Given the description of an element on the screen output the (x, y) to click on. 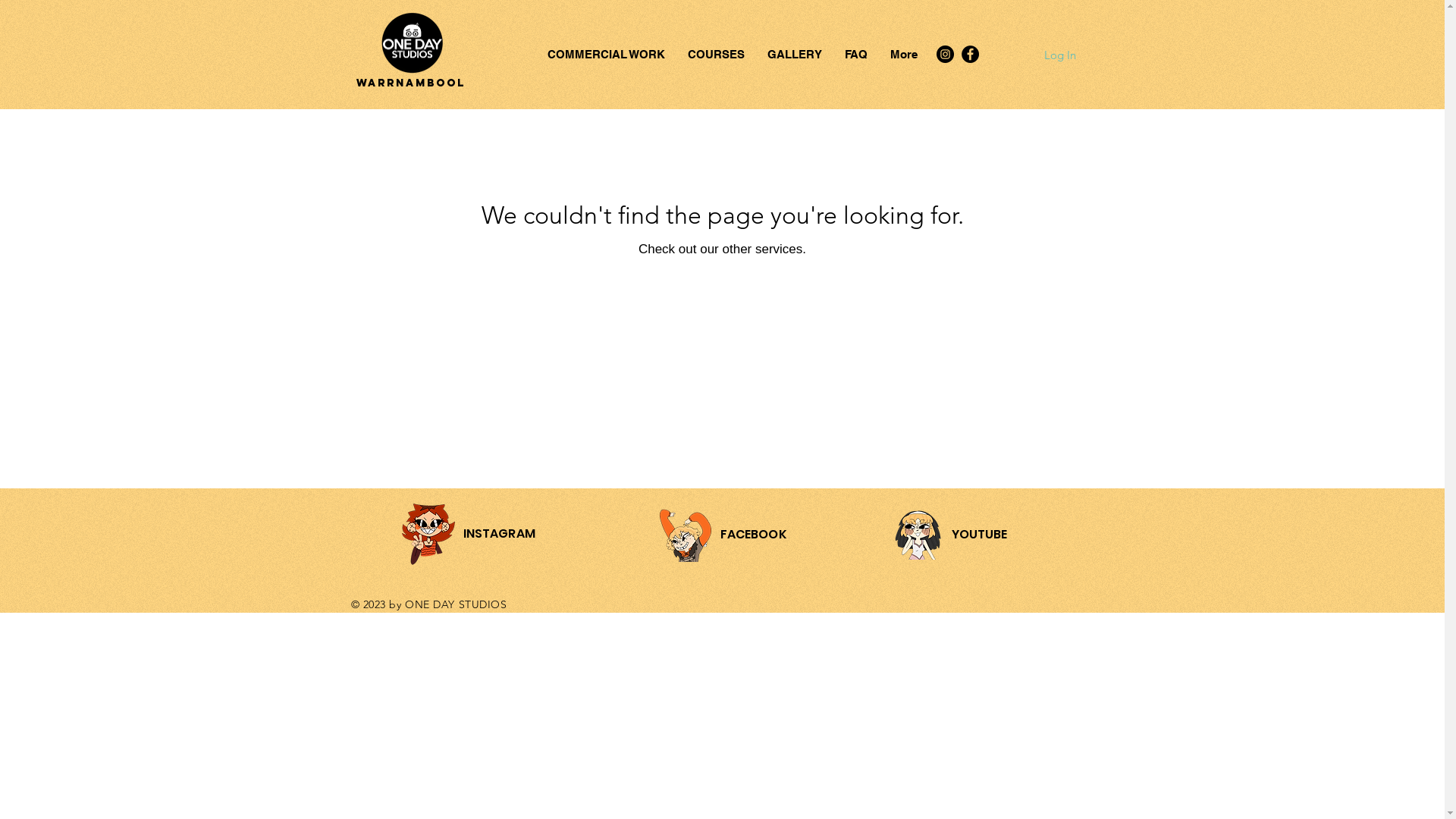
SWITCH-Logo.png Element type: hover (411, 42)
Log In Element type: text (1058, 54)
FAQ Element type: text (855, 54)
GALLERY Element type: text (793, 54)
COMMERCIAL WORK Element type: text (605, 54)
COURSES Element type: text (716, 54)
